Given the description of an element on the screen output the (x, y) to click on. 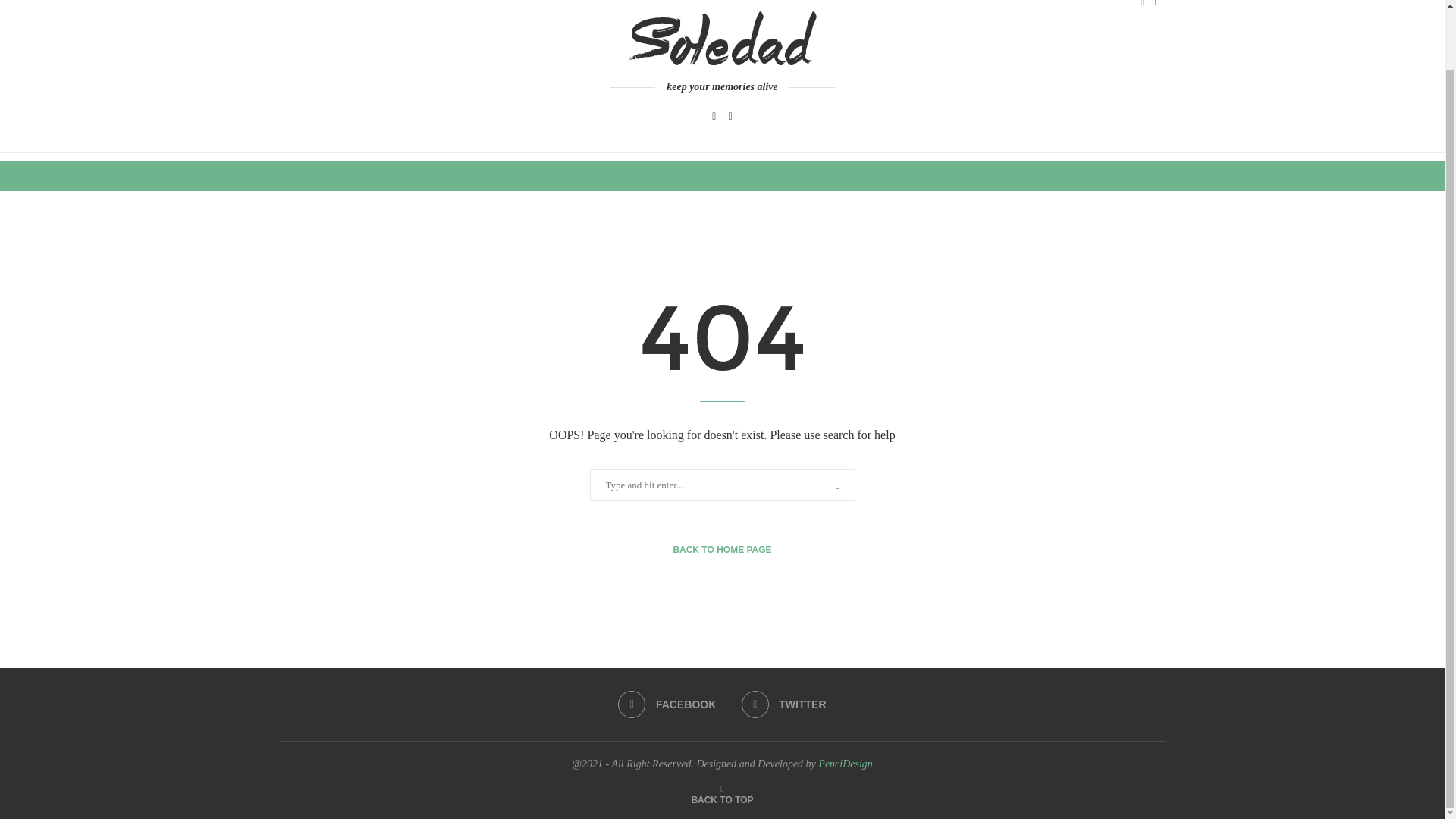
BACK TO HOME PAGE (721, 549)
PenciDesign (845, 763)
FACEBOOK (666, 704)
TWITTER (784, 704)
BACK TO TOP (721, 799)
